Given the description of an element on the screen output the (x, y) to click on. 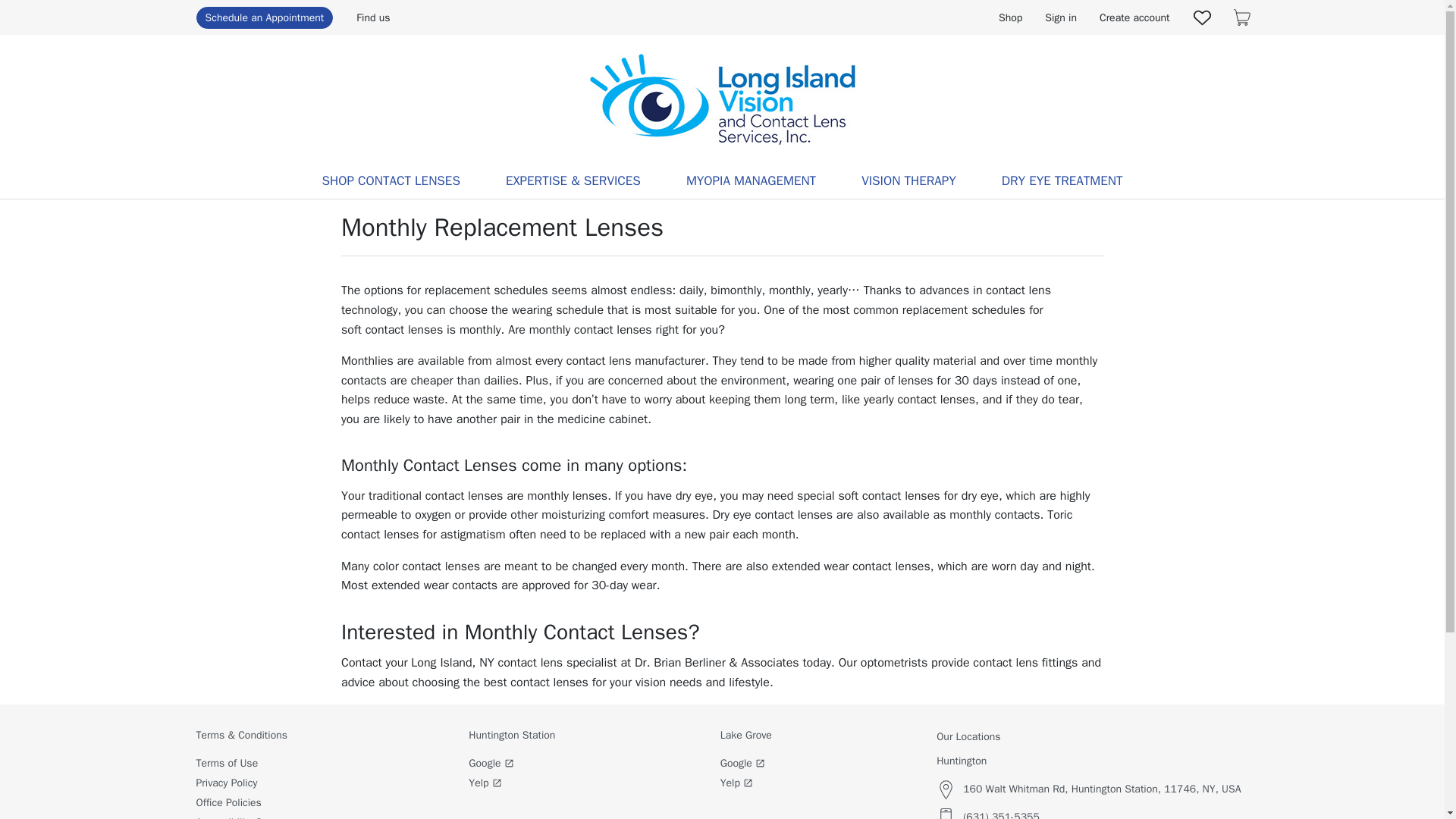
Cart (1241, 17)
Schedule an Appointment (264, 16)
Cart (1241, 17)
Shop (1010, 17)
SHOP CONTACT LENSES (389, 181)
Create account (1133, 17)
Sign in (1060, 17)
Find us (373, 17)
